Given the description of an element on the screen output the (x, y) to click on. 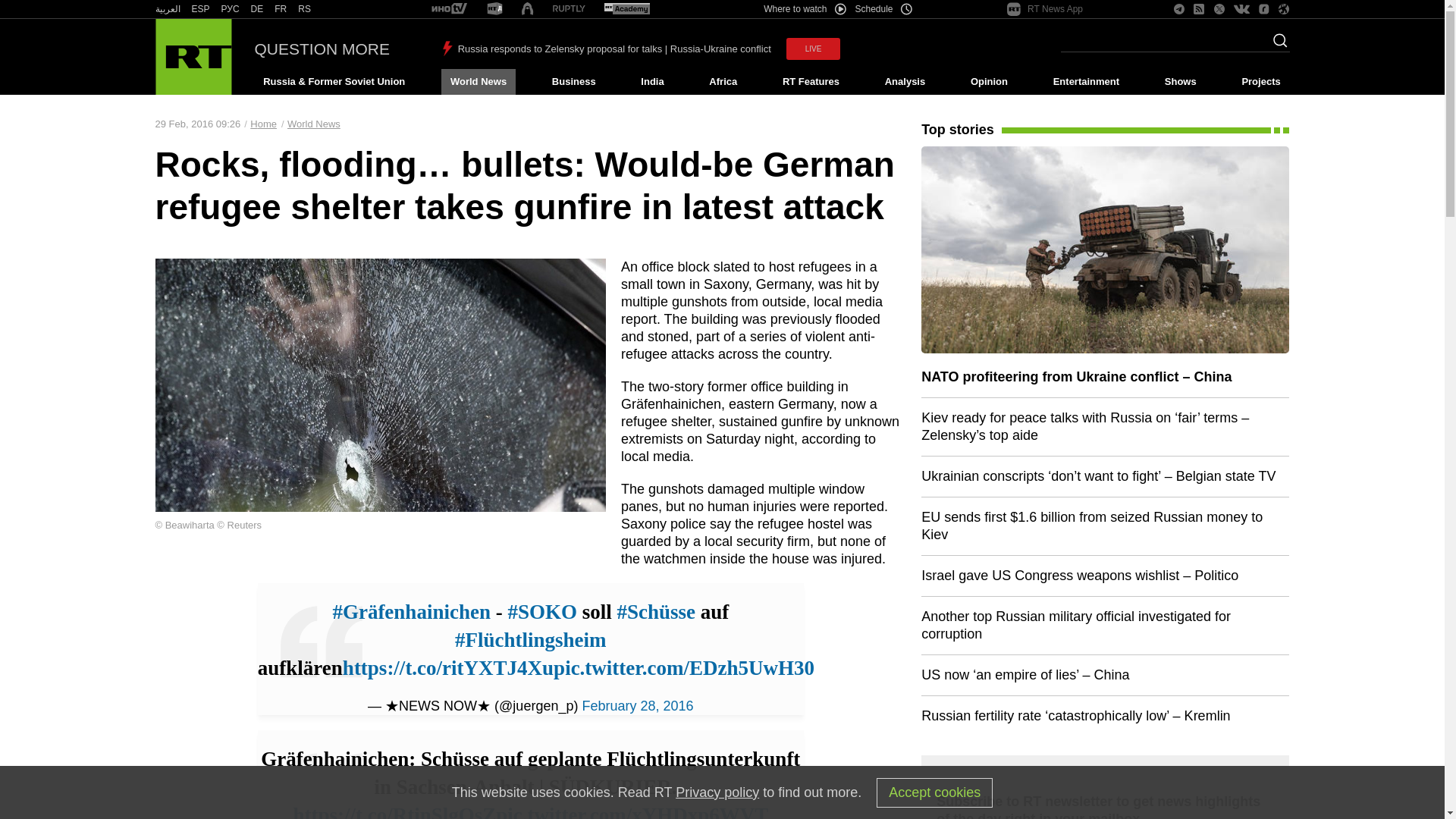
DE (256, 9)
World News (478, 81)
RT  (280, 9)
RT  (494, 9)
RS (304, 9)
LIVE (813, 48)
FR (280, 9)
Where to watch (803, 9)
Search (1276, 44)
Analysis (905, 81)
India (651, 81)
Opinion (988, 81)
Business (573, 81)
RT  (626, 9)
RT  (166, 9)
